Given the description of an element on the screen output the (x, y) to click on. 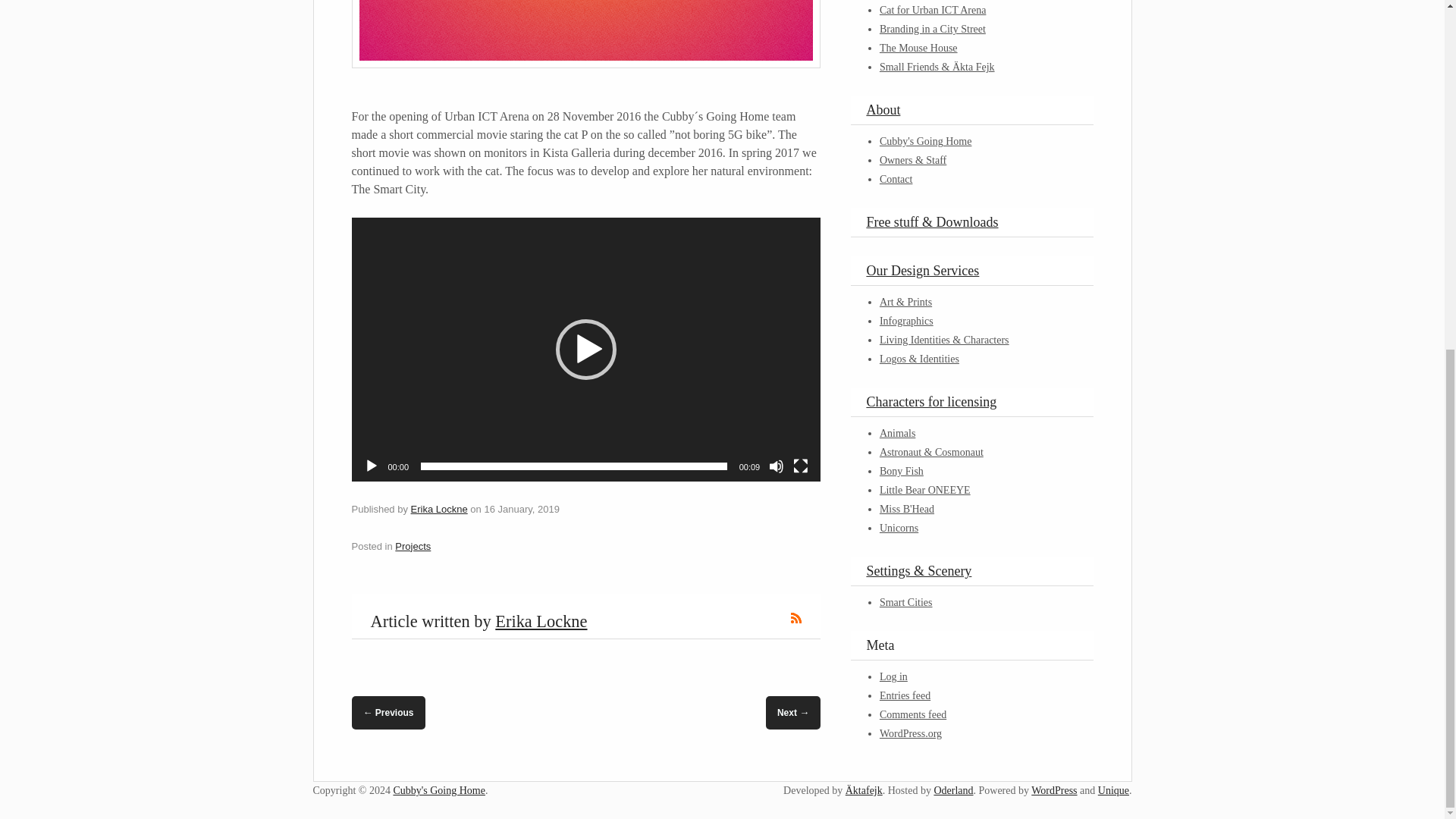
Subscribe (796, 617)
Fullscreen (800, 466)
Erika Lockne (438, 509)
Erika Lockne (540, 620)
Play (371, 466)
Wednesday, January 16th, 2019, 3:00 pm (521, 509)
Mute (776, 466)
Subscribe to the feed for Erika Lockne (796, 617)
Projects (412, 546)
Erika Lockne (438, 509)
Cat for Urban ICT Arena (932, 9)
